Given the description of an element on the screen output the (x, y) to click on. 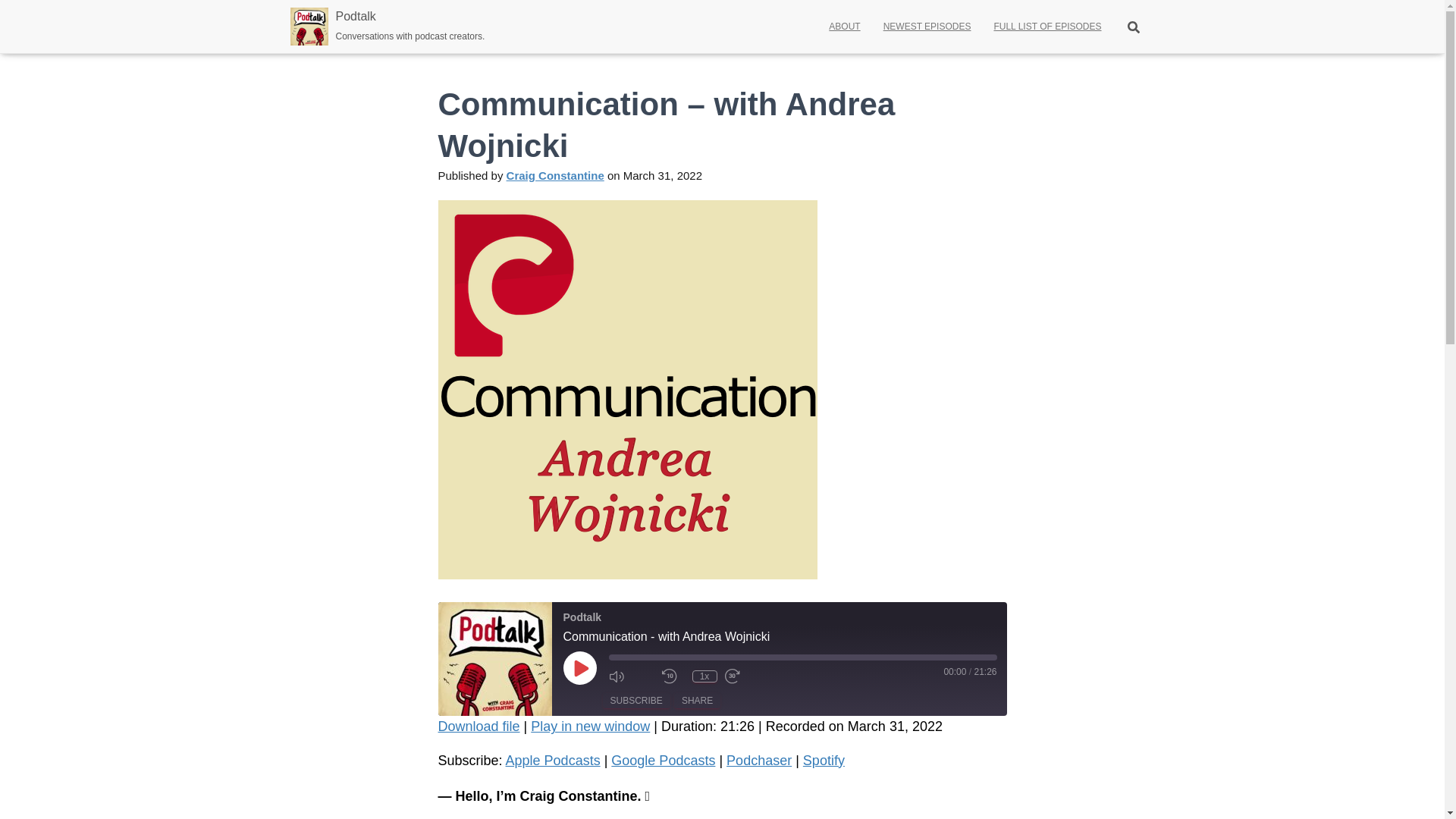
Full List of Episodes (1046, 26)
ABOUT (843, 26)
Google Podcasts (662, 760)
Fast Forward 30 seconds (747, 676)
Fast Forward 30 seconds (747, 676)
Podchaser (759, 760)
Spotify (823, 760)
Apple Podcasts (552, 760)
Rewind 10 seconds (672, 676)
SUBSCRIBE (635, 700)
1x (703, 676)
Craig Constantine (555, 174)
NEWEST EPISODES (927, 26)
Play in new window (590, 726)
Rewind 10 Seconds (672, 676)
